Given the description of an element on the screen output the (x, y) to click on. 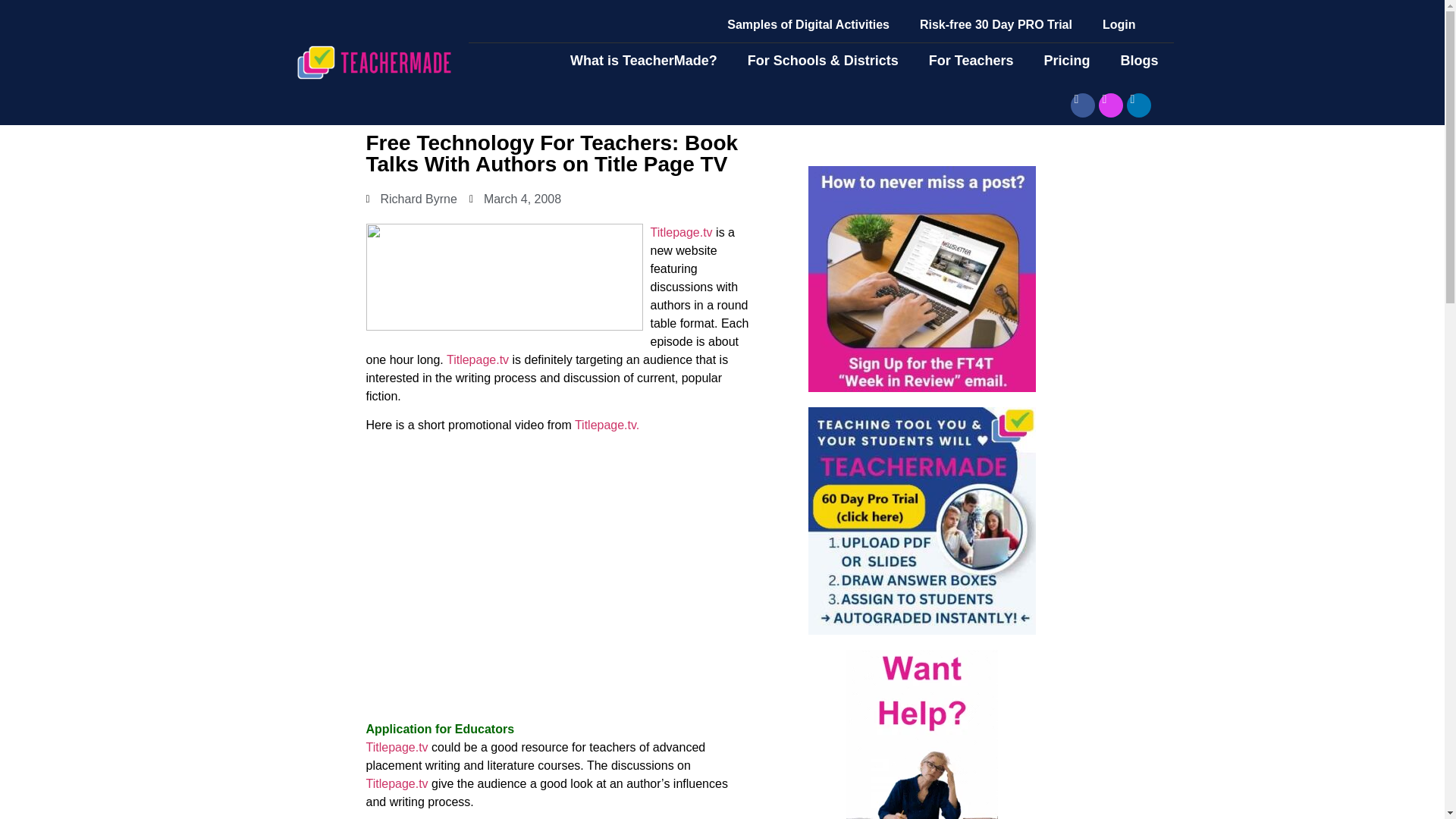
Blogs (1139, 60)
Risk-free 30 Day PRO Trial (995, 24)
For Teachers (971, 60)
Pricing (1066, 60)
Login (1119, 24)
Samples of Digital Activities (807, 24)
What is TeacherMade? (643, 60)
